Given the description of an element on the screen output the (x, y) to click on. 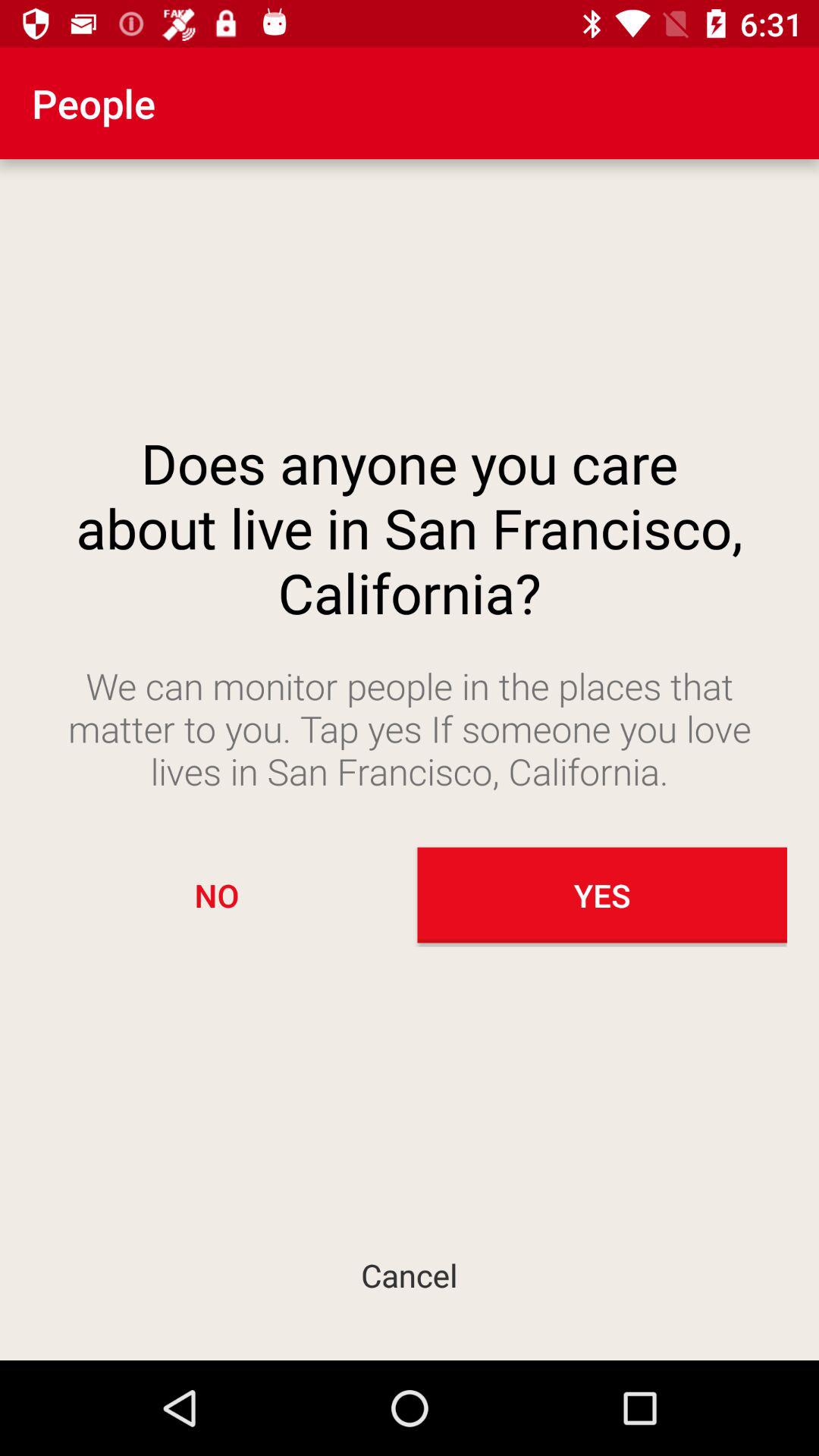
click item below we can monitor item (216, 894)
